Given the description of an element on the screen output the (x, y) to click on. 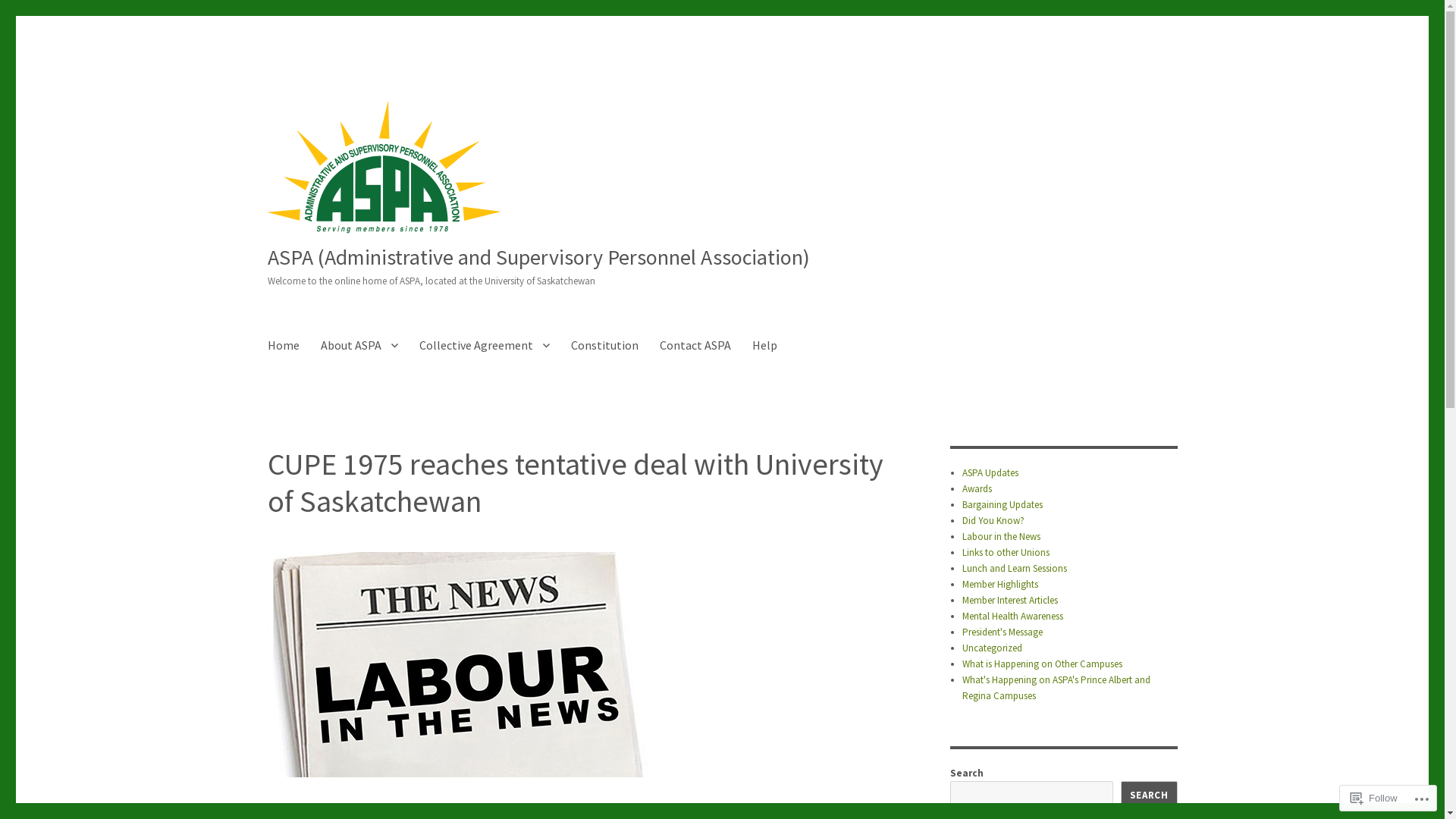
What's Happening on ASPA's Prince Albert and Regina Campuses Element type: text (1056, 687)
About ASPA Element type: text (358, 344)
Did You Know? Element type: text (993, 520)
Mental Health Awareness Element type: text (1012, 615)
Uncategorized Element type: text (992, 647)
Contact ASPA Element type: text (695, 344)
Home Element type: text (282, 344)
Awards Element type: text (976, 488)
Lunch and Learn Sessions Element type: text (1014, 567)
What is Happening on Other Campuses Element type: text (1042, 663)
Help Element type: text (764, 344)
President's Message Element type: text (1002, 631)
Collective Agreement Element type: text (483, 344)
Links to other Unions Element type: text (1005, 552)
Labour in the News Element type: text (1001, 536)
Member Interest Articles Element type: text (1009, 599)
SEARCH Element type: text (1148, 795)
Constitution Element type: text (603, 344)
ASPA (Administrative and Supervisory Personnel Association) Element type: text (537, 256)
Member Highlights Element type: text (1000, 583)
Bargaining Updates Element type: text (1002, 504)
Follow Element type: text (1373, 797)
ASPA Updates Element type: text (990, 472)
